Given the description of an element on the screen output the (x, y) to click on. 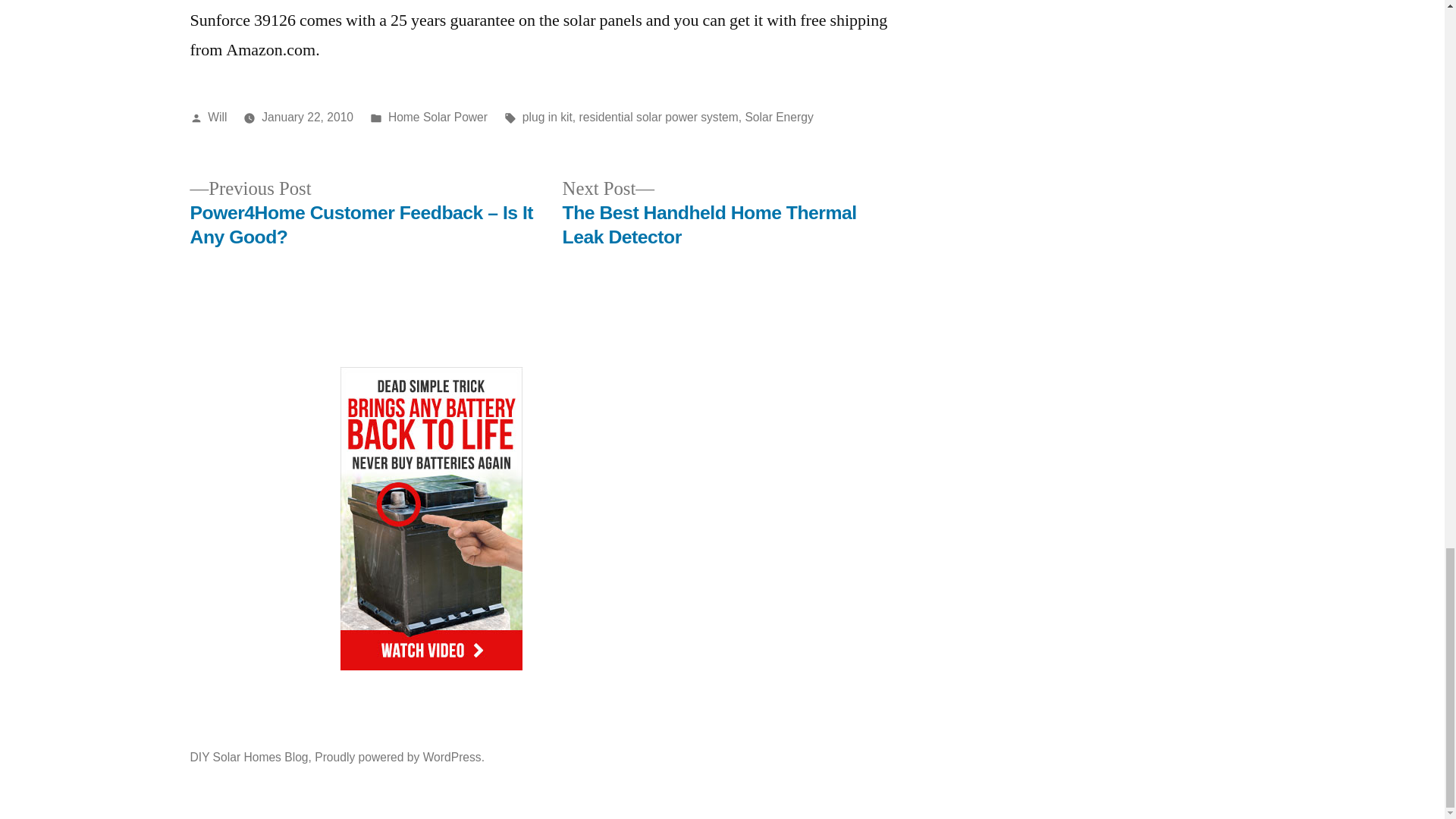
DIY Solar Homes Blog (248, 757)
Solar Energy (778, 116)
plug in kit (547, 116)
Will (217, 116)
Proudly powered by WordPress. (399, 757)
Home Solar Power (437, 116)
residential solar power system (658, 116)
January 22, 2010 (307, 116)
